Given the description of an element on the screen output the (x, y) to click on. 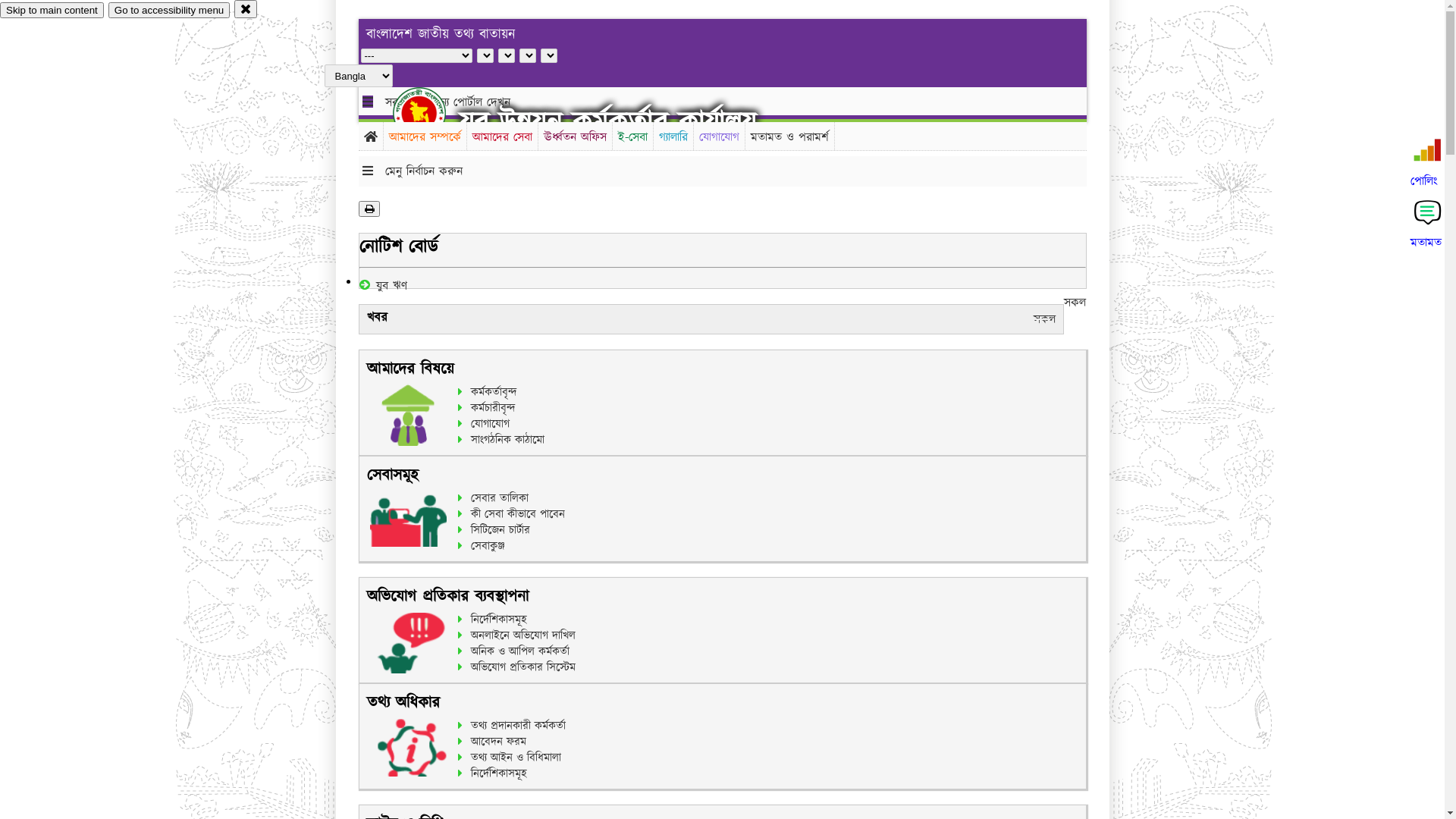

                
             Element type: hover (431, 112)
close Element type: hover (245, 9)
Skip to main content Element type: text (51, 10)
Go to accessibility menu Element type: text (168, 10)
